Given the description of an element on the screen output the (x, y) to click on. 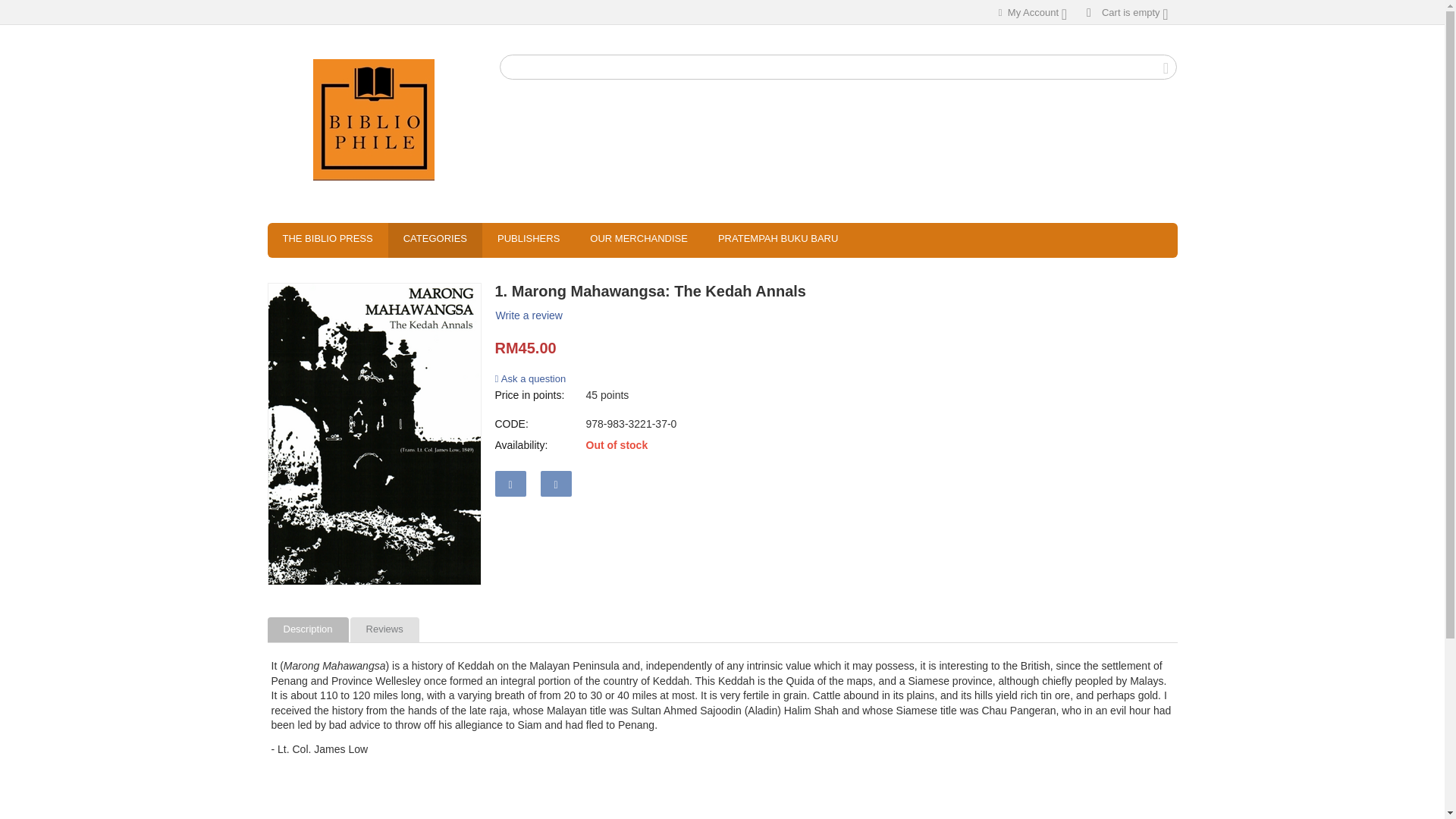
CATEGORIES (434, 239)
Write a review (528, 315)
Add to comparison list (556, 483)
THE BIBLIO PRESS (326, 239)
PUBLISHERS (528, 239)
Search (1165, 67)
  My Account (1032, 12)
Cart is empty (1127, 12)
Search products (838, 66)
Add to wish list (510, 483)
Ask a question (530, 378)
